Given the description of an element on the screen output the (x, y) to click on. 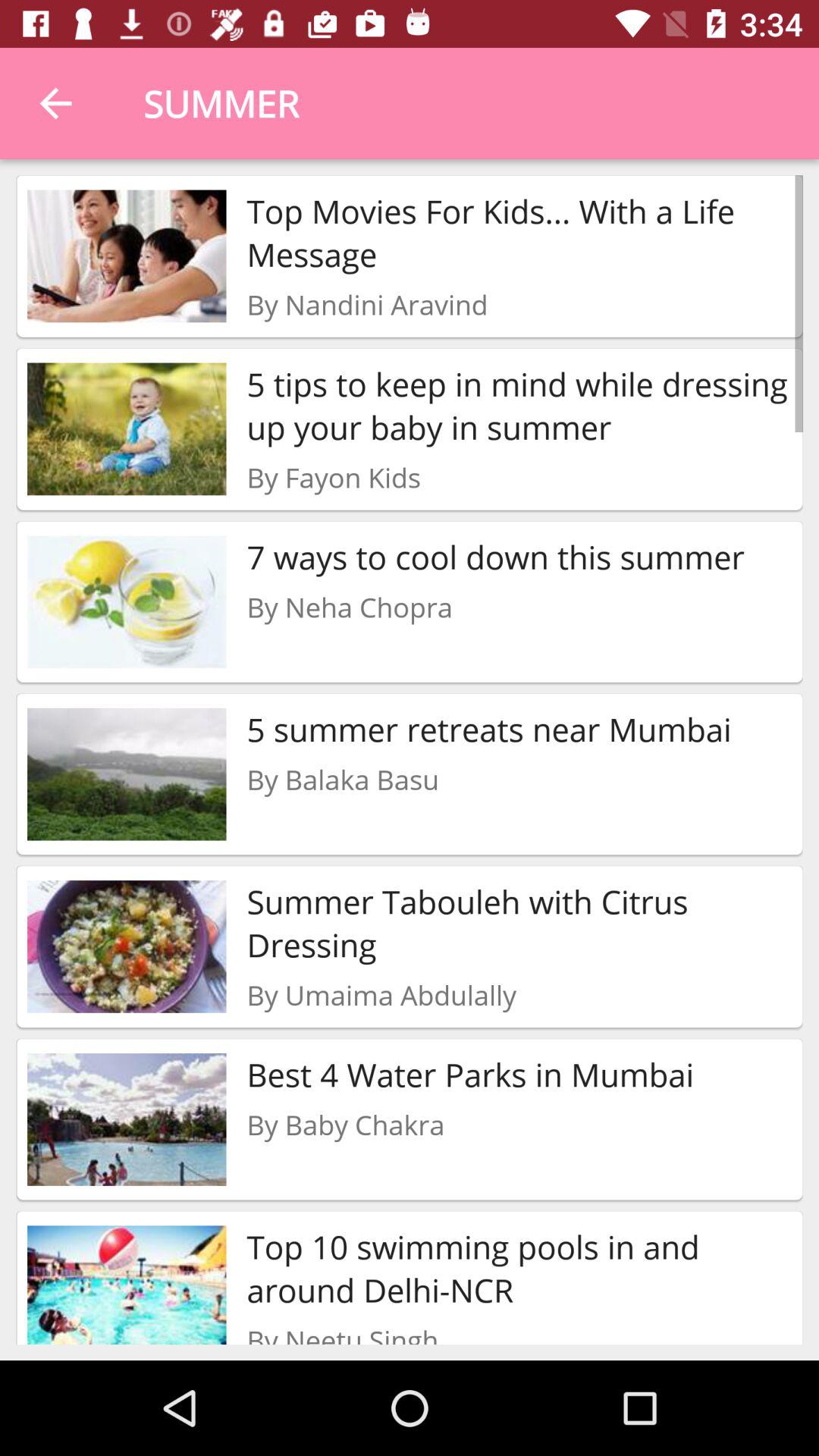
tap item below the best 4 water item (345, 1124)
